Given the description of an element on the screen output the (x, y) to click on. 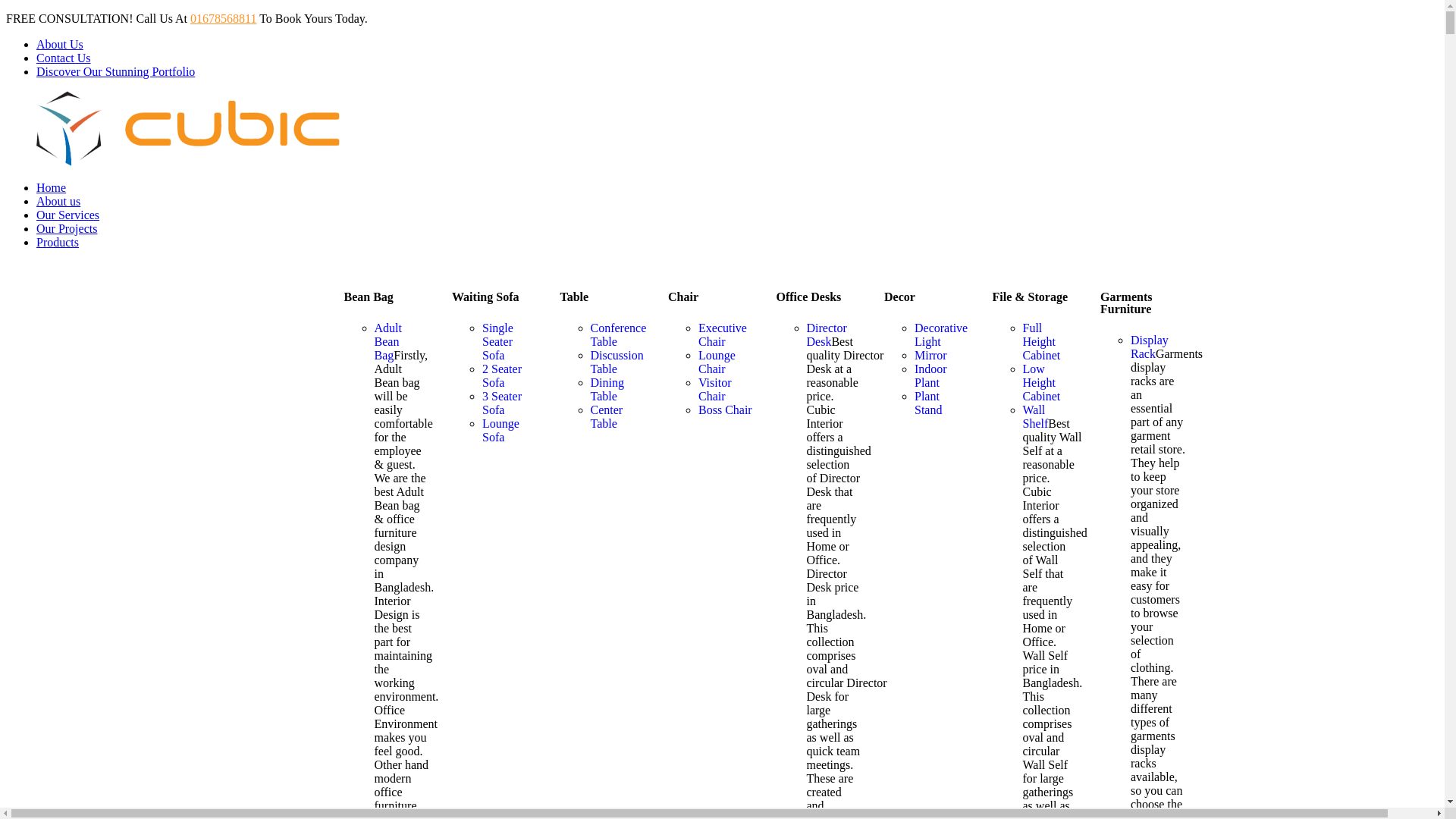
Decorative Light Element type: text (940, 334)
Decor Element type: text (899, 296)
Our Projects Element type: text (66, 228)
About Us Element type: text (59, 43)
Waiting Sofa Element type: text (484, 296)
Lounge Sofa Element type: text (500, 430)
Office Desks Element type: text (808, 296)
Mirror Element type: text (930, 354)
3 Seater Sofa Element type: text (501, 402)
Lounge Chair Element type: text (716, 361)
Adult Bean Bag Element type: text (387, 341)
Table Element type: text (573, 296)
Full Height Cabinet Element type: text (1041, 341)
Plant Stand Element type: text (927, 402)
Wall Shelf Element type: text (1035, 416)
Home Element type: text (50, 187)
Director Desk Element type: text (826, 334)
Executive Chair Element type: text (722, 334)
Our Services Element type: text (67, 214)
2 Seater Sofa Element type: text (501, 375)
Chair Element type: text (683, 296)
Dining Table Element type: text (606, 389)
Products Element type: text (57, 241)
Display Rack Element type: text (1149, 346)
Low Height Cabinet Element type: text (1041, 382)
Bean Bag Element type: text (368, 296)
File & Storage Element type: text (1029, 296)
Boss Chair Element type: text (725, 409)
Discover Our Stunning Portfolio Element type: text (115, 71)
Garments Furniture Element type: text (1125, 302)
Discussion Table Element type: text (616, 361)
01678568811 Element type: text (223, 18)
Conference Table Element type: text (617, 334)
Indoor Plant Element type: text (930, 375)
Visitor Chair Element type: text (714, 389)
Center Table Element type: text (605, 416)
Single Seater Sofa Element type: text (497, 341)
Contact Us Element type: text (63, 57)
About us Element type: text (58, 200)
